Given the description of an element on the screen output the (x, y) to click on. 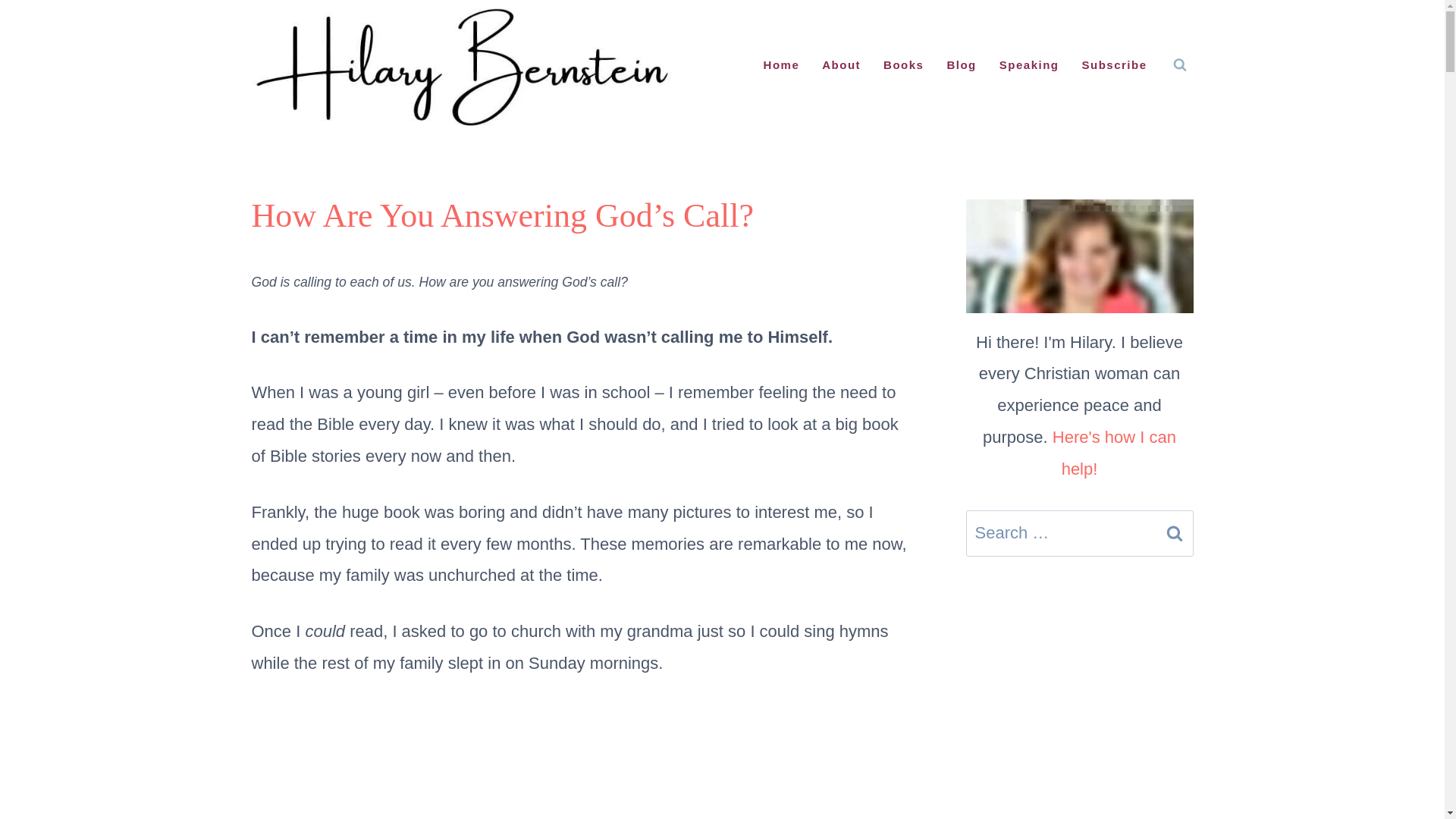
About (841, 64)
Home (781, 64)
Books (903, 64)
Speaking (1029, 64)
Blog (960, 64)
Subscribe (1113, 64)
